Given the description of an element on the screen output the (x, y) to click on. 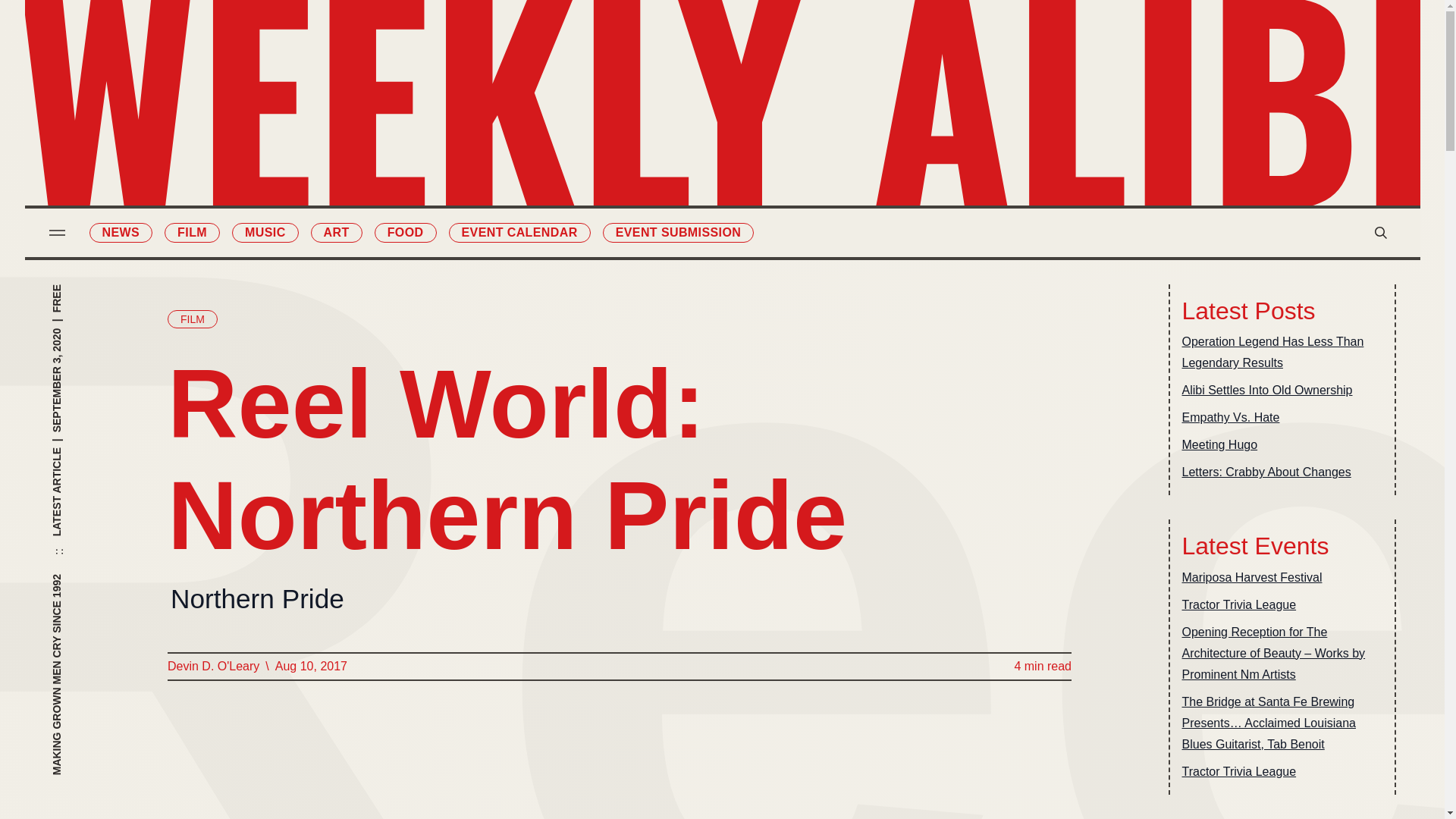
FOOD (405, 232)
FILM (191, 319)
Advertisement (618, 762)
ART (336, 232)
MUSIC (264, 232)
EVENT CALENDAR (519, 232)
Devin D. O'Leary (213, 666)
EVENT SUBMISSION (678, 232)
NEWS (120, 232)
FILM (191, 232)
